Given the description of an element on the screen output the (x, y) to click on. 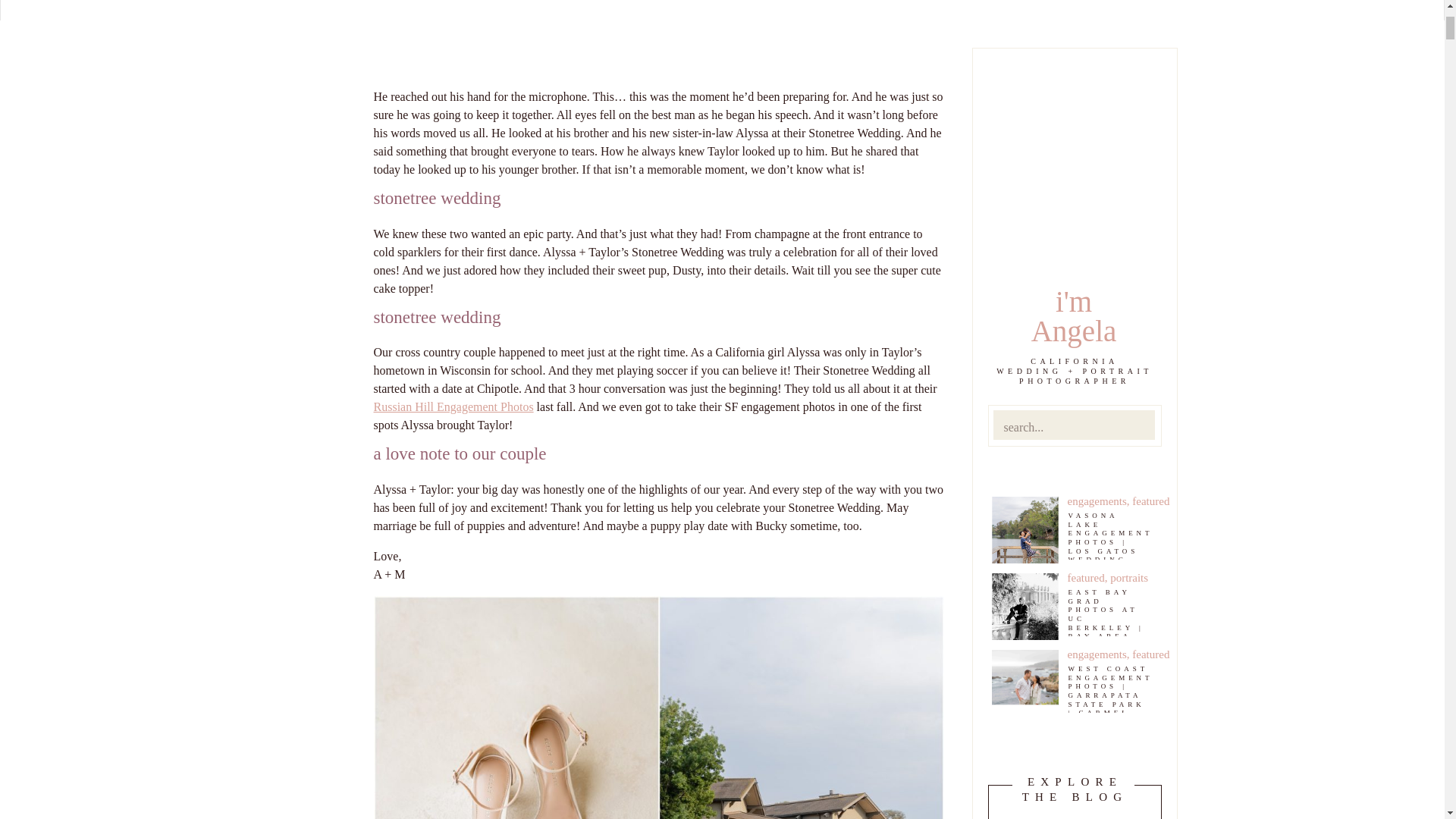
Russian Hill Engagement Photos (452, 406)
engagements (1096, 500)
featured (1150, 654)
featured (1150, 500)
engagements (1096, 654)
portraits (1128, 577)
featured (1086, 577)
